Given the description of an element on the screen output the (x, y) to click on. 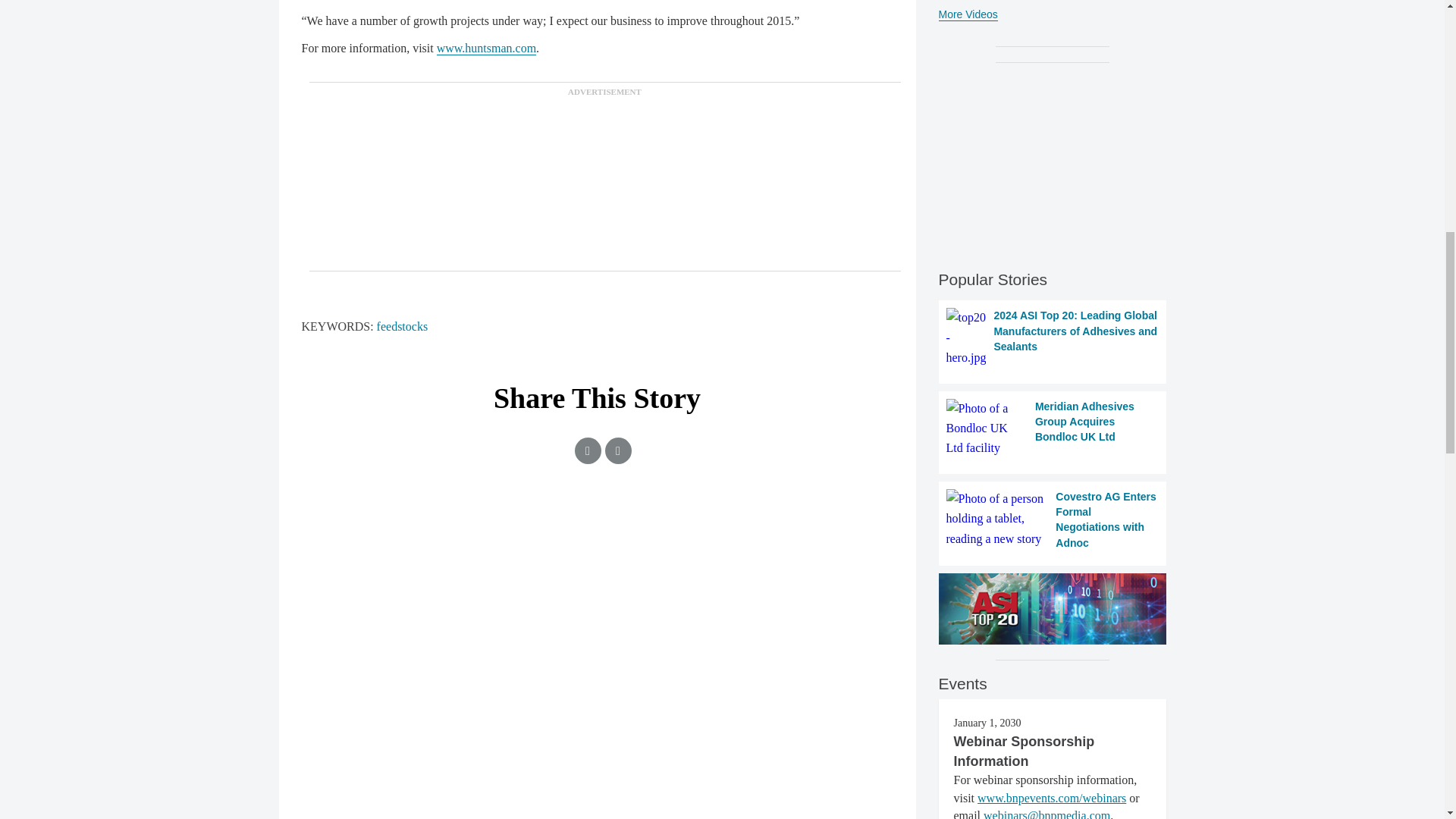
Webinar Sponsorship Information (1023, 751)
Covestro AG Enters Formal Negotiations with Adnoc  (1052, 519)
Meridian Adhesives Group Acquires Bondloc UK Ltd (1052, 428)
